Given the description of an element on the screen output the (x, y) to click on. 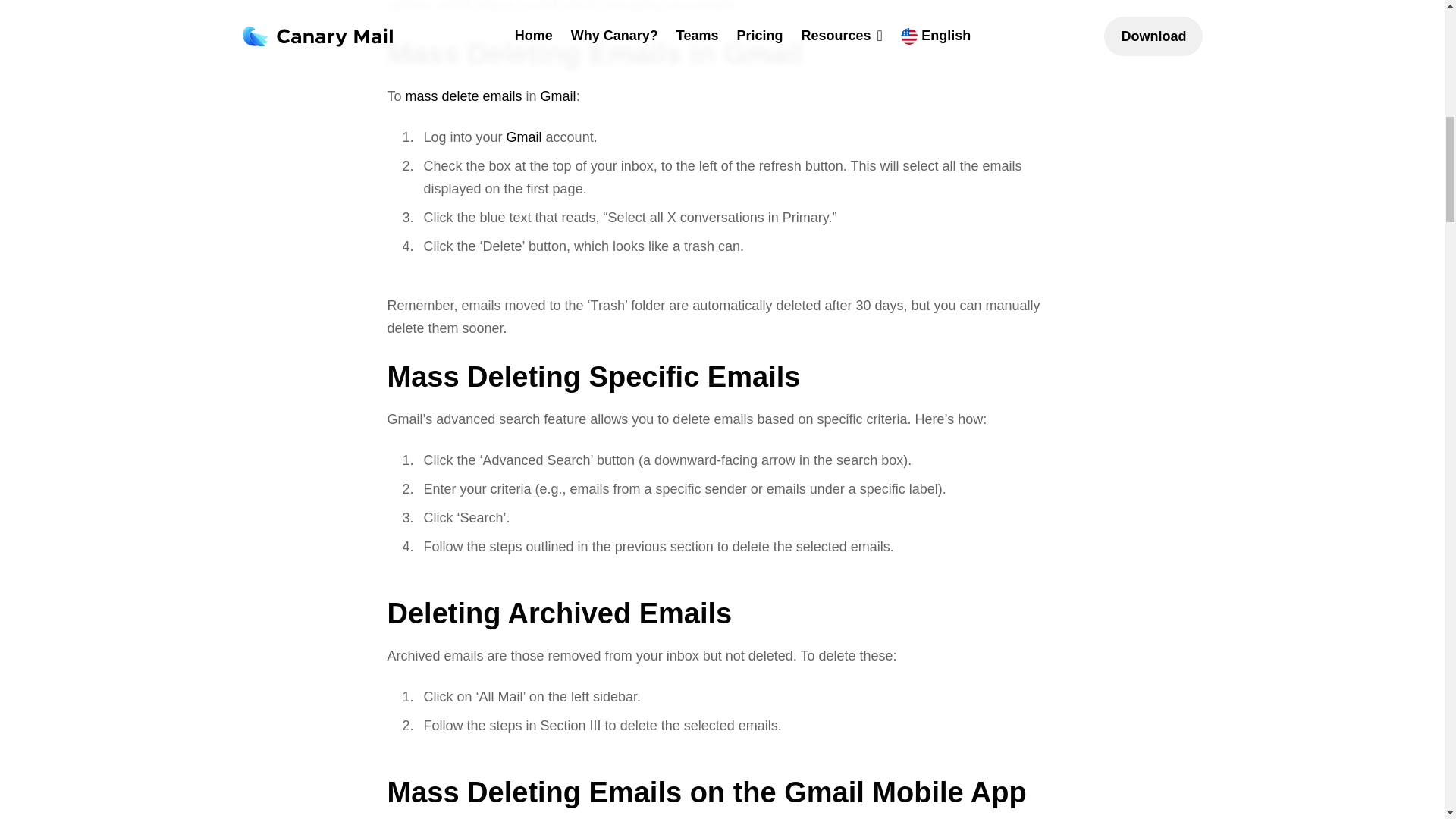
mass delete emails (464, 96)
Gmail (523, 136)
Gmail (558, 96)
